Given the description of an element on the screen output the (x, y) to click on. 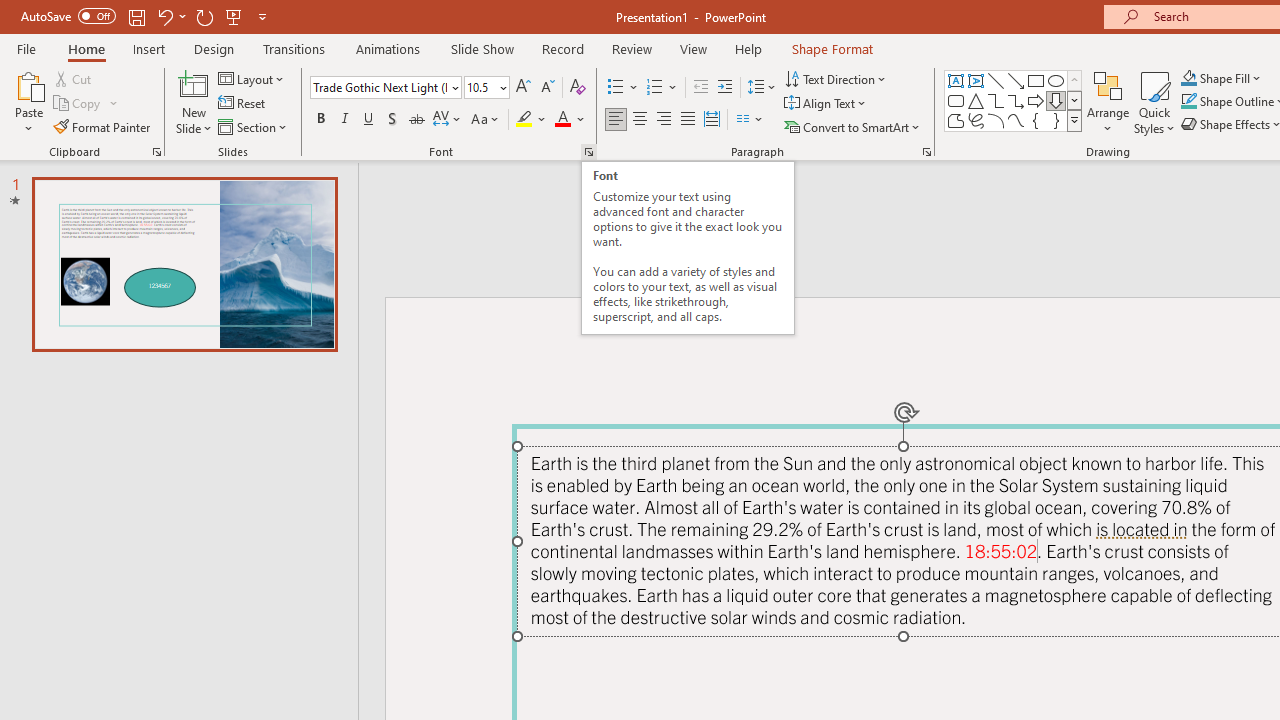
Strikethrough (416, 119)
Paste (28, 84)
Row Down (1074, 100)
Rectangle: Rounded Corners (955, 100)
Font Color (569, 119)
Text Direction (836, 78)
Numbering (654, 87)
Oval (1055, 80)
Arc (995, 120)
Cut (73, 78)
Align Left (616, 119)
